Given the description of an element on the screen output the (x, y) to click on. 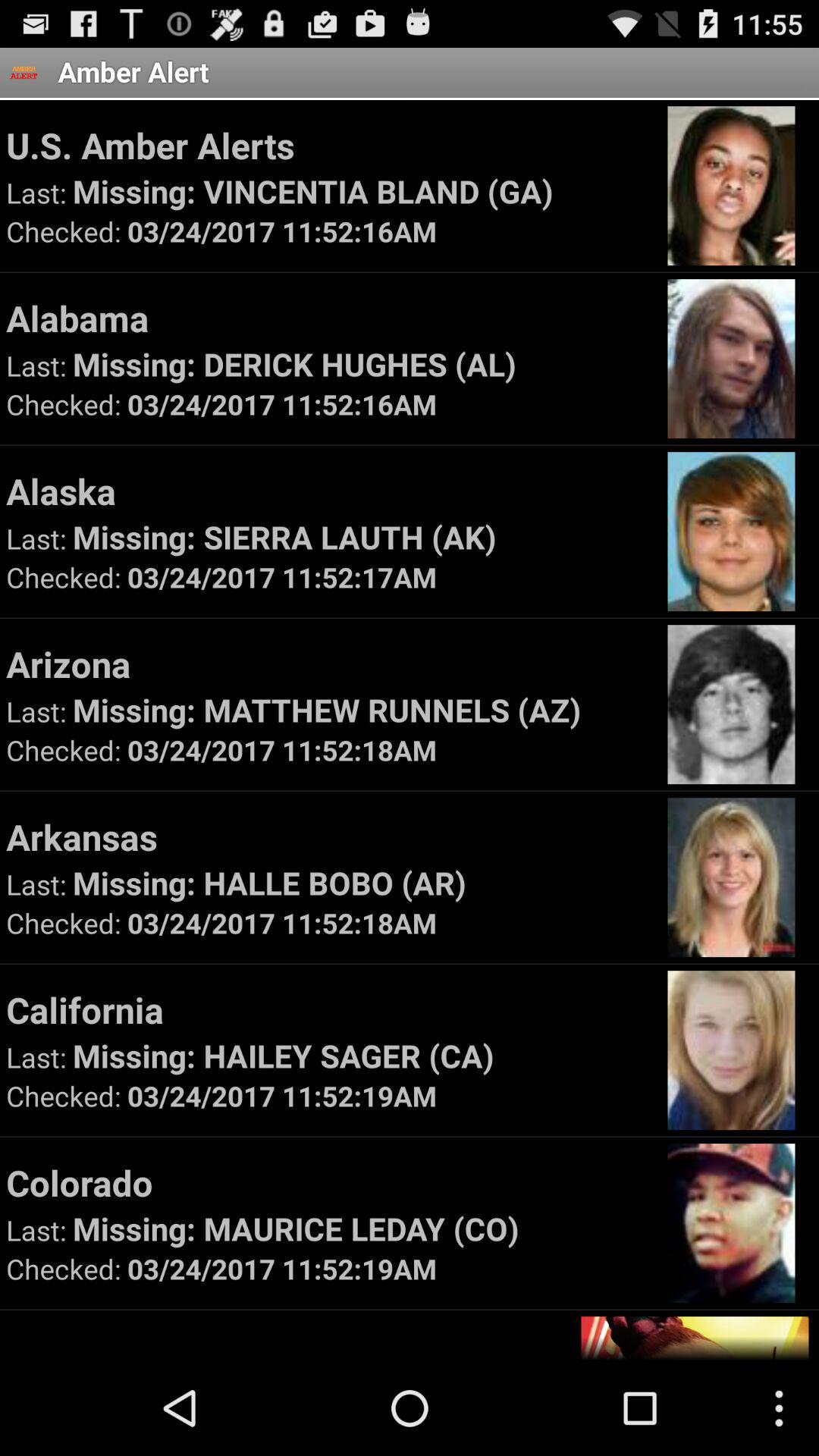
launch the colorado icon (329, 1182)
